Given the description of an element on the screen output the (x, y) to click on. 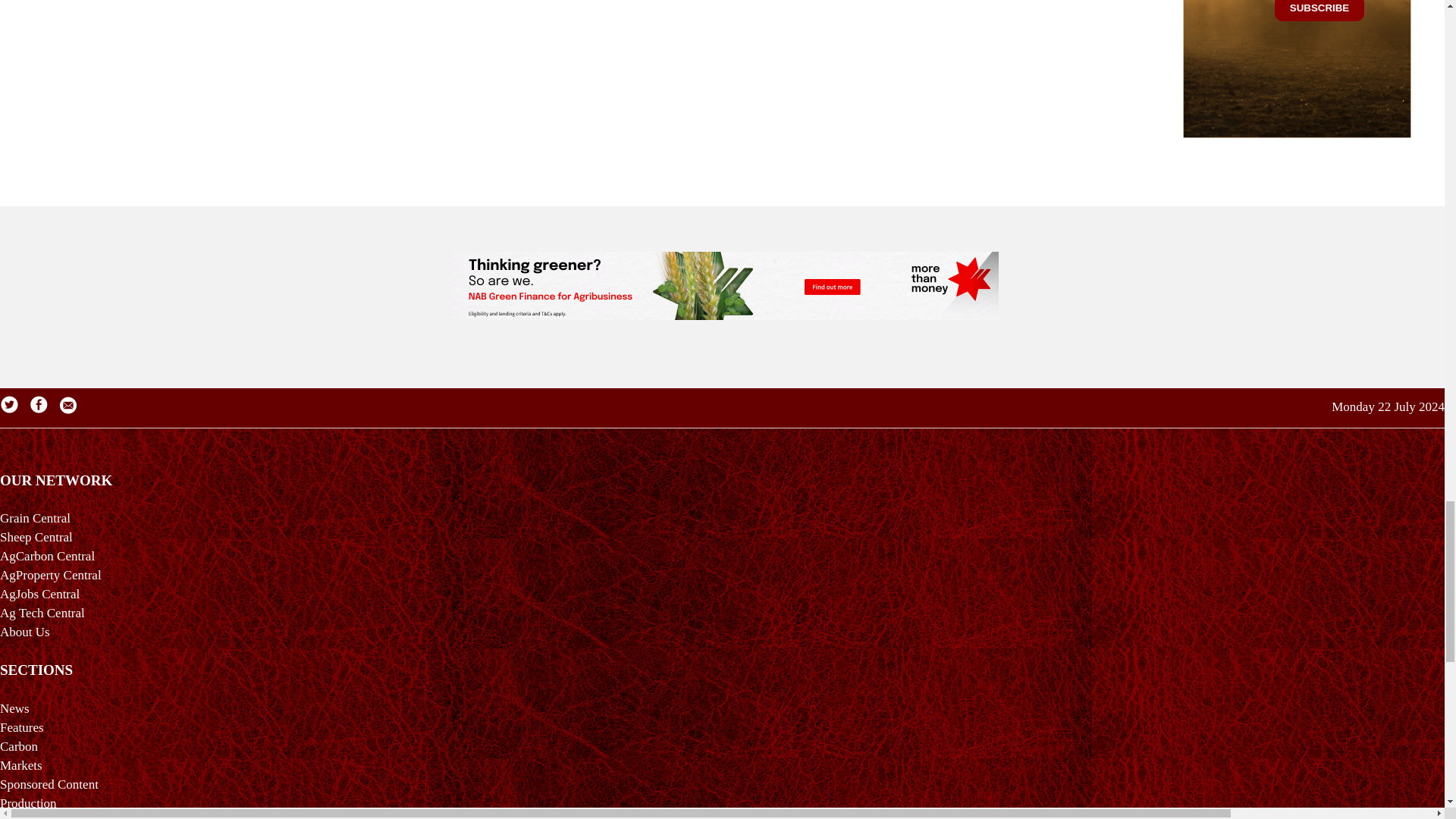
3rd party ad content (721, 285)
